Given the description of an element on the screen output the (x, y) to click on. 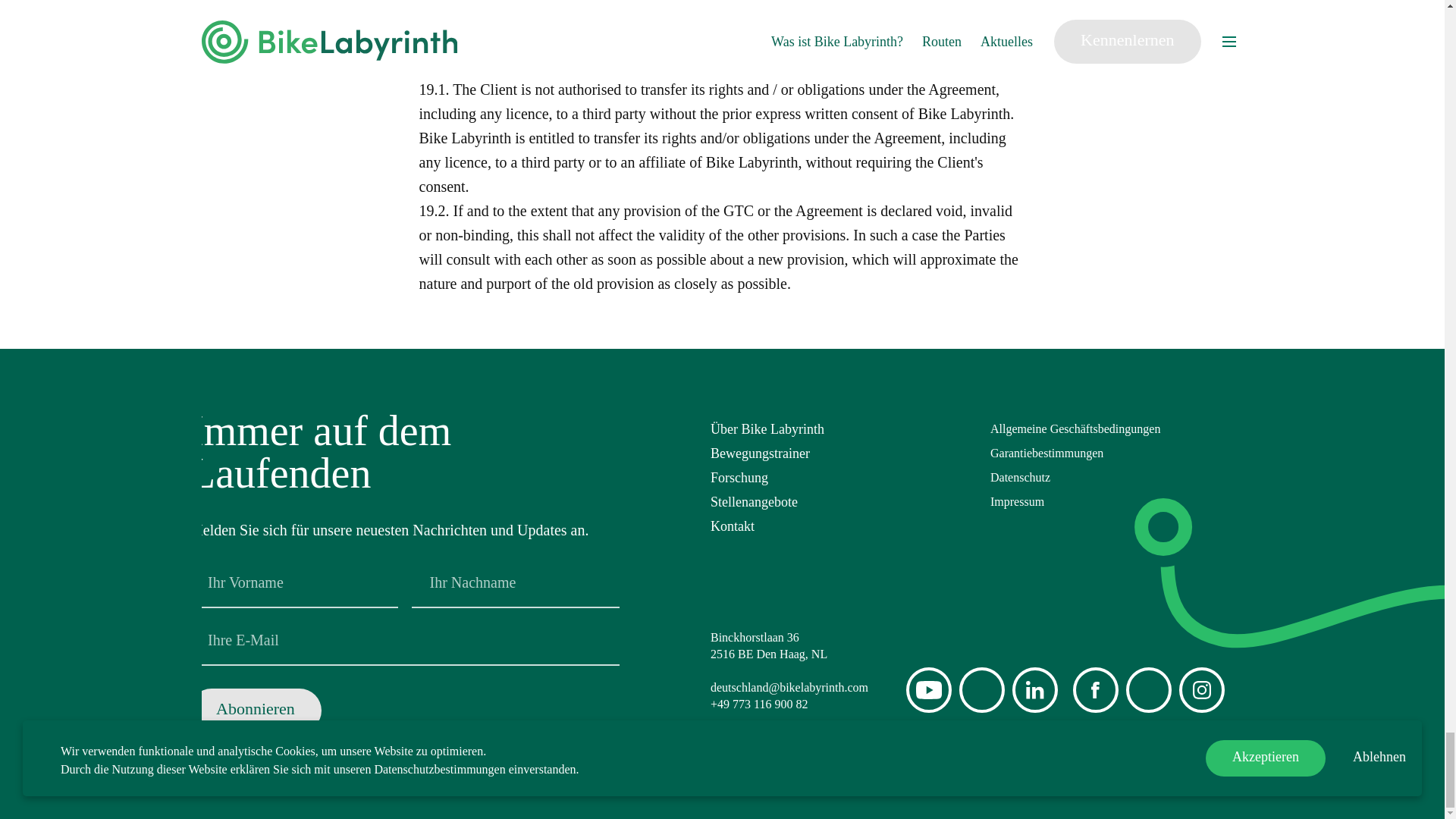
Forschung (842, 477)
Garantiebestimmungen (1122, 453)
Bewegungstrainer (842, 453)
Abonnieren (255, 710)
Impressum (1122, 501)
Kontakt (842, 526)
Datenschutz (1122, 477)
Stellenangebote (842, 501)
